Given the description of an element on the screen output the (x, y) to click on. 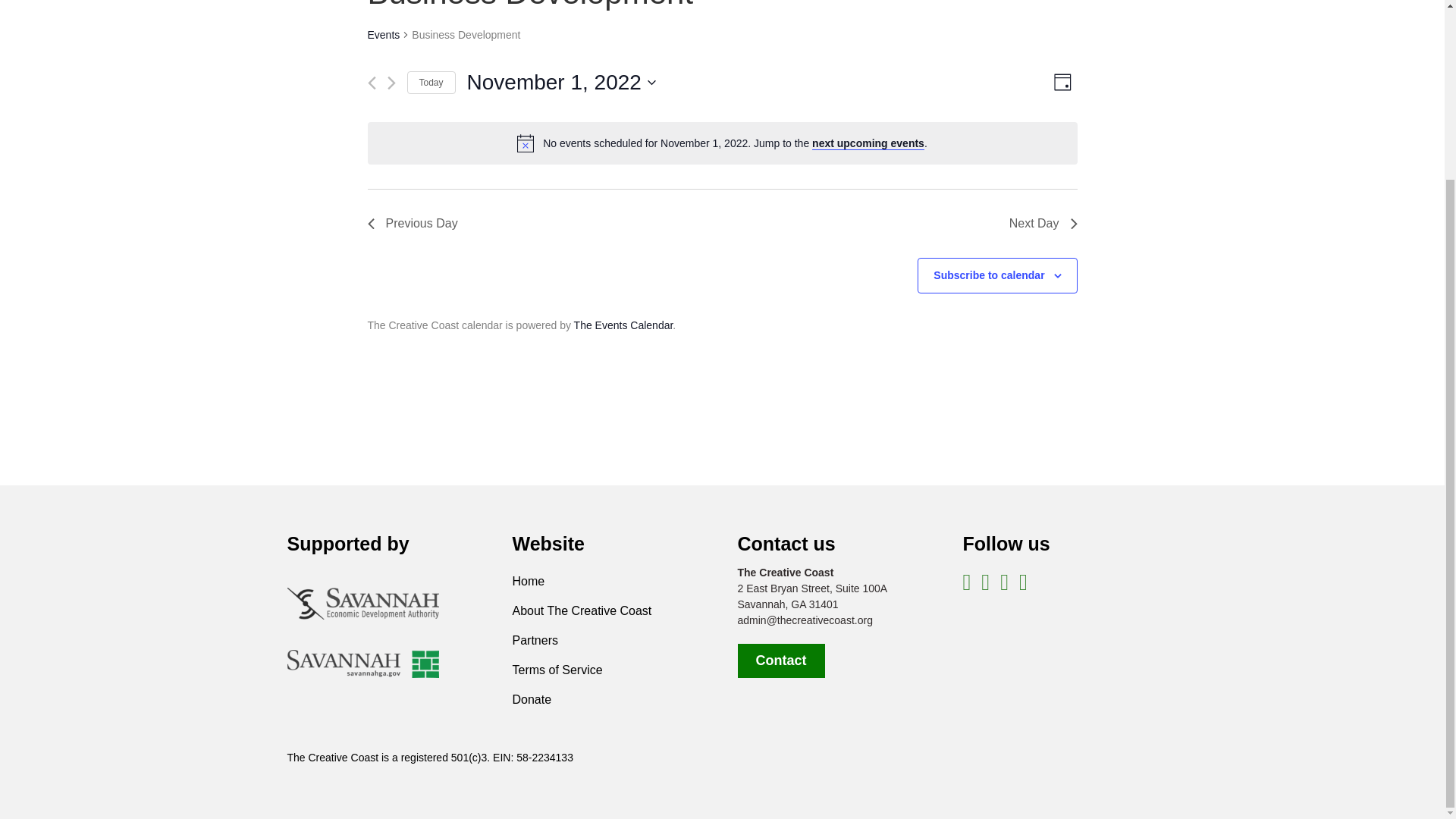
Next Day (1043, 223)
Events (382, 35)
The Events Calendar (622, 325)
Next Day (1043, 223)
Click to select today's date (430, 83)
Previous Day (411, 223)
next upcoming events (868, 143)
Contact us (785, 543)
November 1, 2022 (561, 82)
Today (430, 83)
Previous Day (411, 223)
Day (1062, 82)
Subscribe to calendar (988, 275)
Click to toggle datepicker (561, 82)
Website (548, 543)
